Given the description of an element on the screen output the (x, y) to click on. 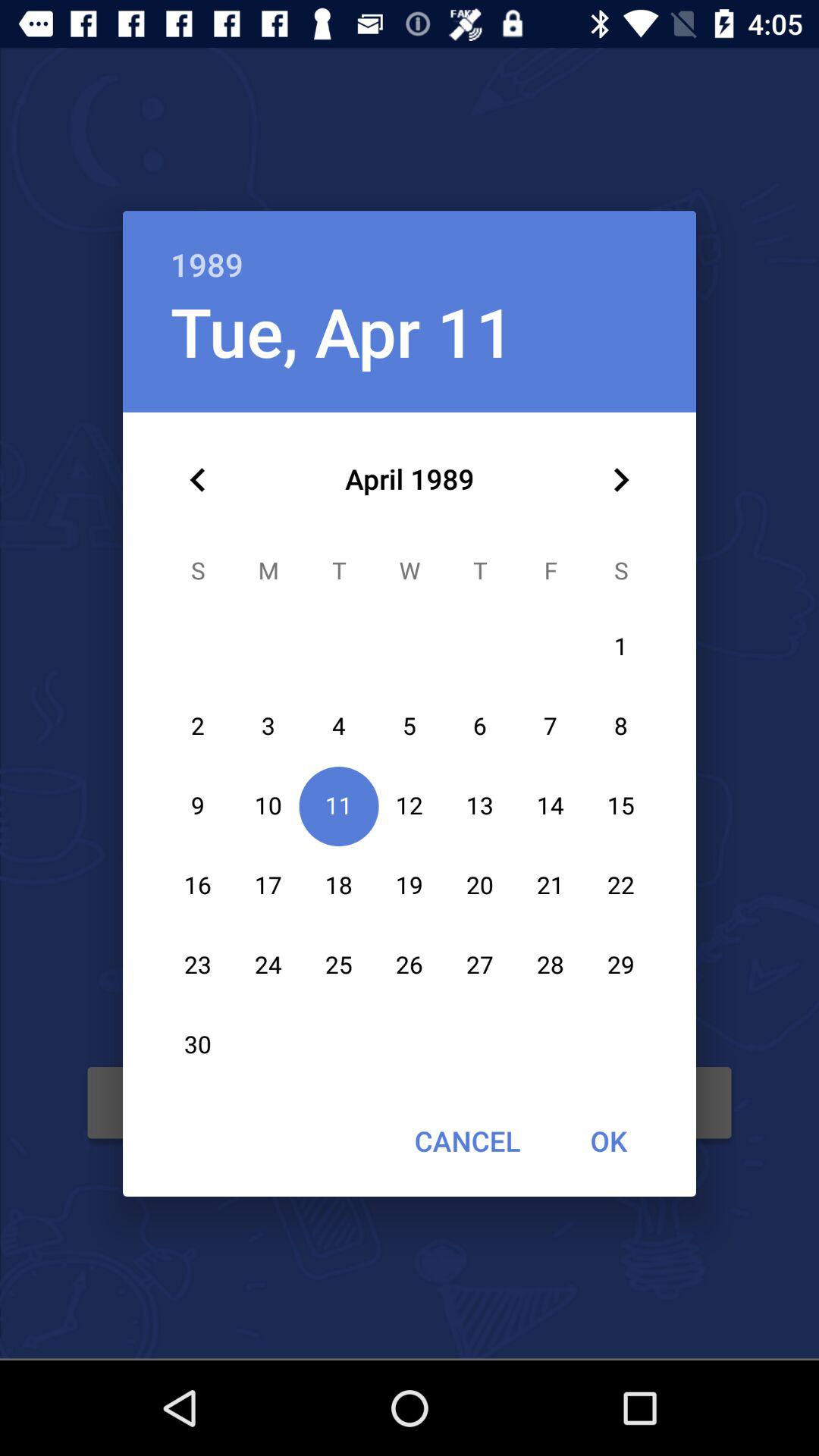
select the icon at the top left corner (197, 479)
